Given the description of an element on the screen output the (x, y) to click on. 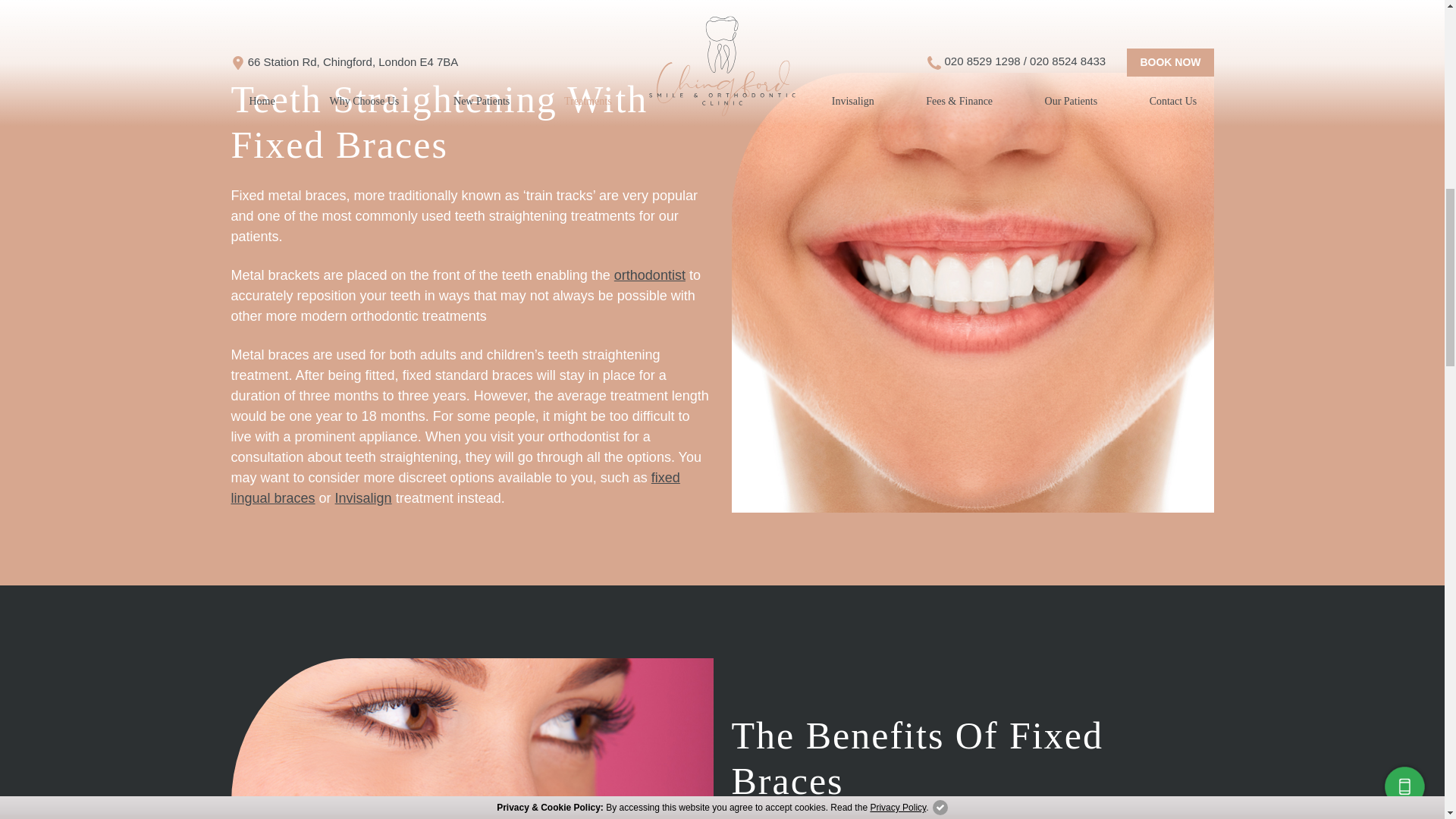
fixed lingual braces (454, 488)
orthodontist (649, 274)
Invisalign (362, 498)
